Given the description of an element on the screen output the (x, y) to click on. 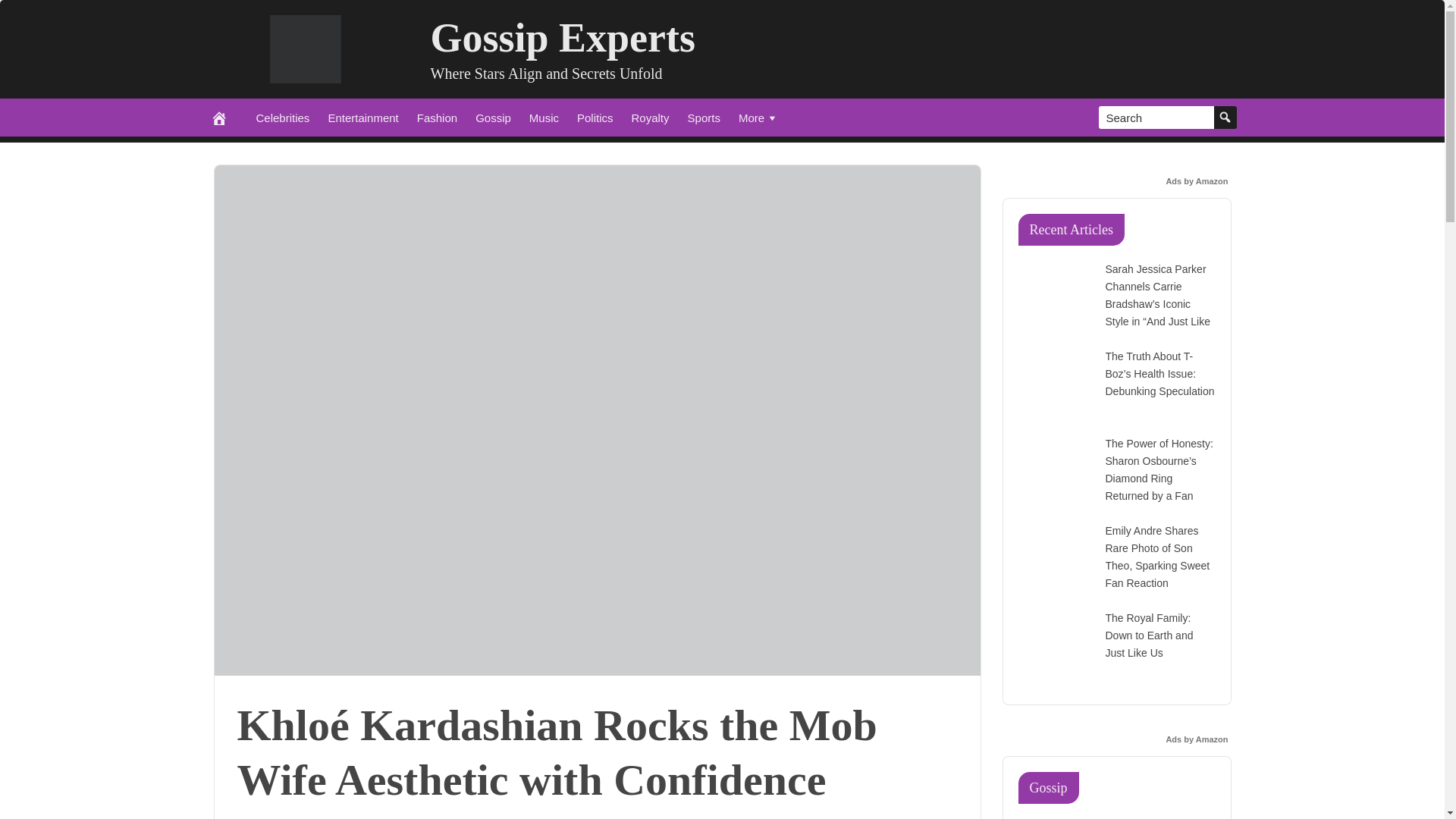
Politics (595, 117)
Gossip Experts (562, 37)
Fashion (436, 117)
Gossip (492, 117)
Sports (703, 117)
Entertainment (362, 117)
Music (543, 117)
More (758, 117)
Royalty (650, 117)
Celebrities (282, 117)
